Given the description of an element on the screen output the (x, y) to click on. 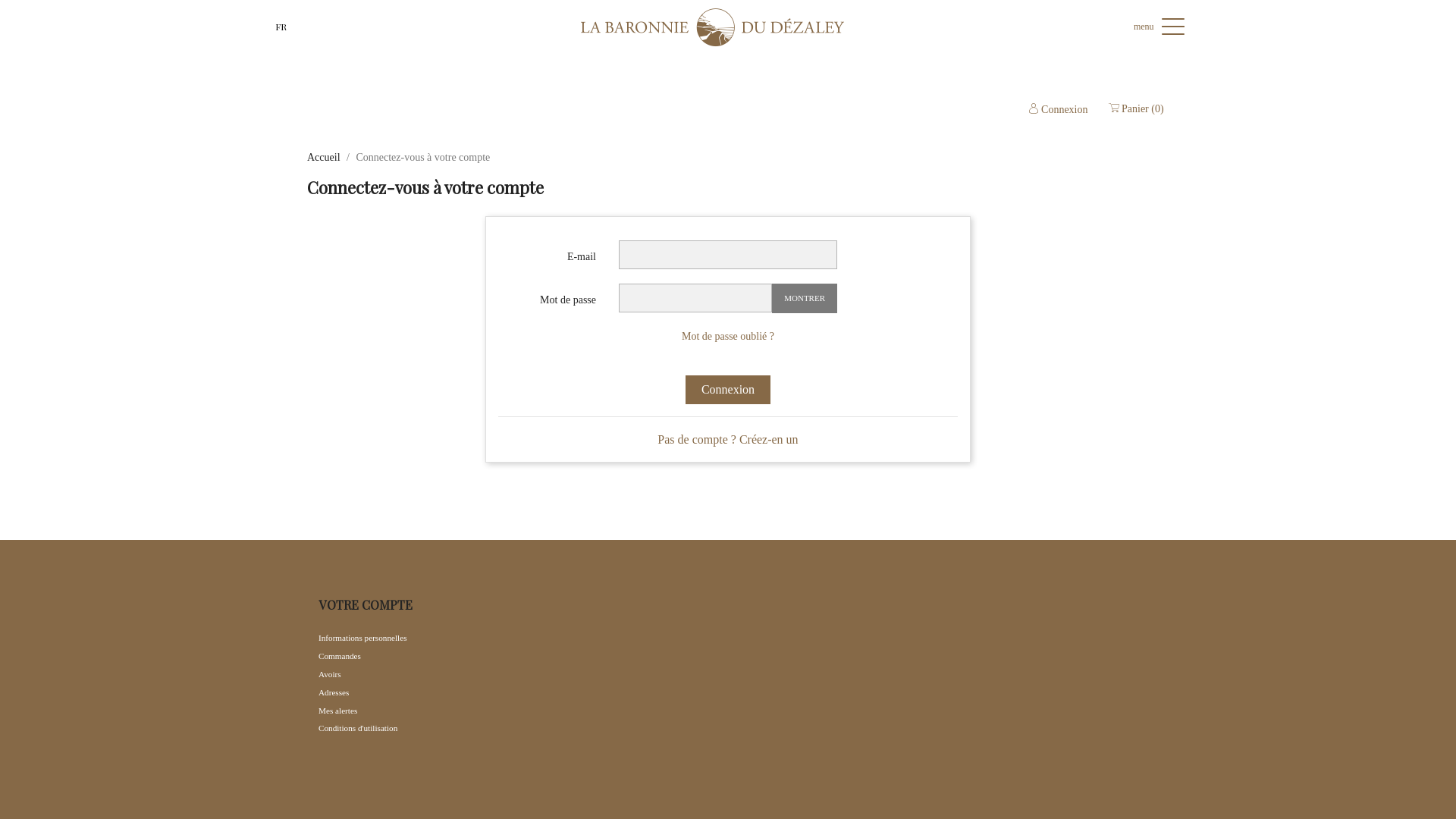
Connexion Element type: text (1058, 109)
Informations personnelles Element type: text (362, 637)
Mes alertes Element type: text (337, 710)
Connexion Element type: text (727, 389)
VOTRE COMPTE Element type: text (365, 604)
Accueil Element type: text (323, 157)
Adresses Element type: text (333, 691)
MONTRER Element type: text (804, 298)
Commandes Element type: text (339, 655)
Avoirs Element type: text (329, 673)
FR Element type: text (280, 26)
Conditions d'utilisation Element type: text (357, 727)
